Given the description of an element on the screen output the (x, y) to click on. 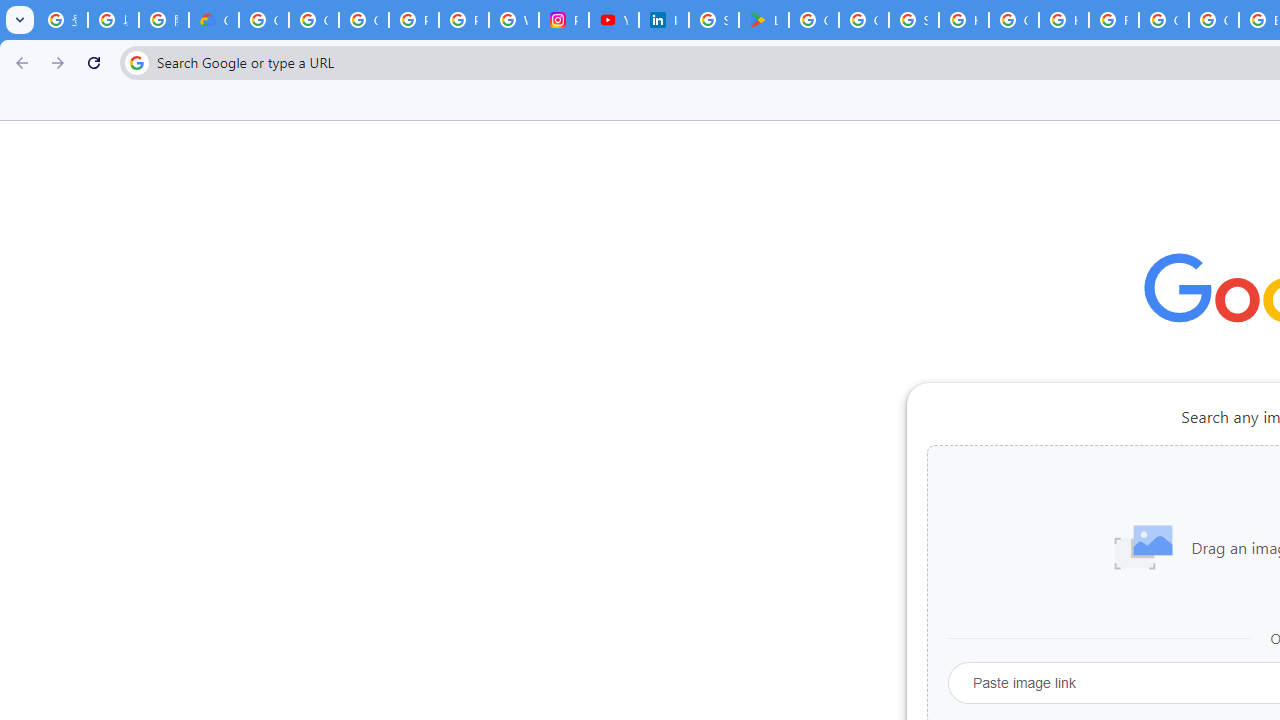
YouTube Culture & Trends - On The Rise: Handcam Videos (613, 20)
Search icon (136, 62)
